Given the description of an element on the screen output the (x, y) to click on. 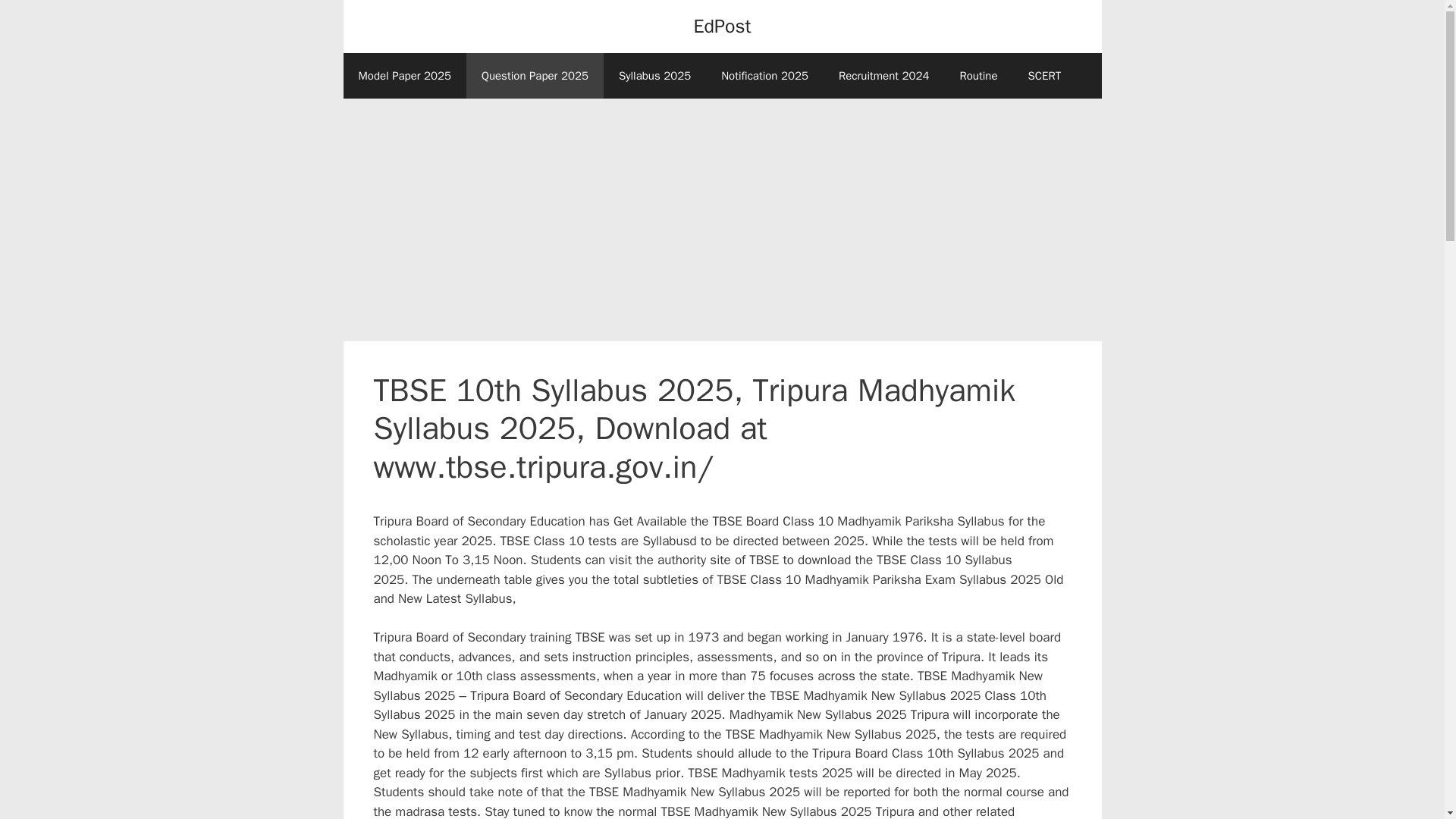
Routine (977, 75)
Syllabus 2025 (655, 75)
Notification 2025 (765, 75)
Model Paper 2025 (403, 75)
Recruitment 2024 (884, 75)
Question Paper 2025 (534, 75)
EdPost (722, 25)
SCERT (1045, 75)
